Given the description of an element on the screen output the (x, y) to click on. 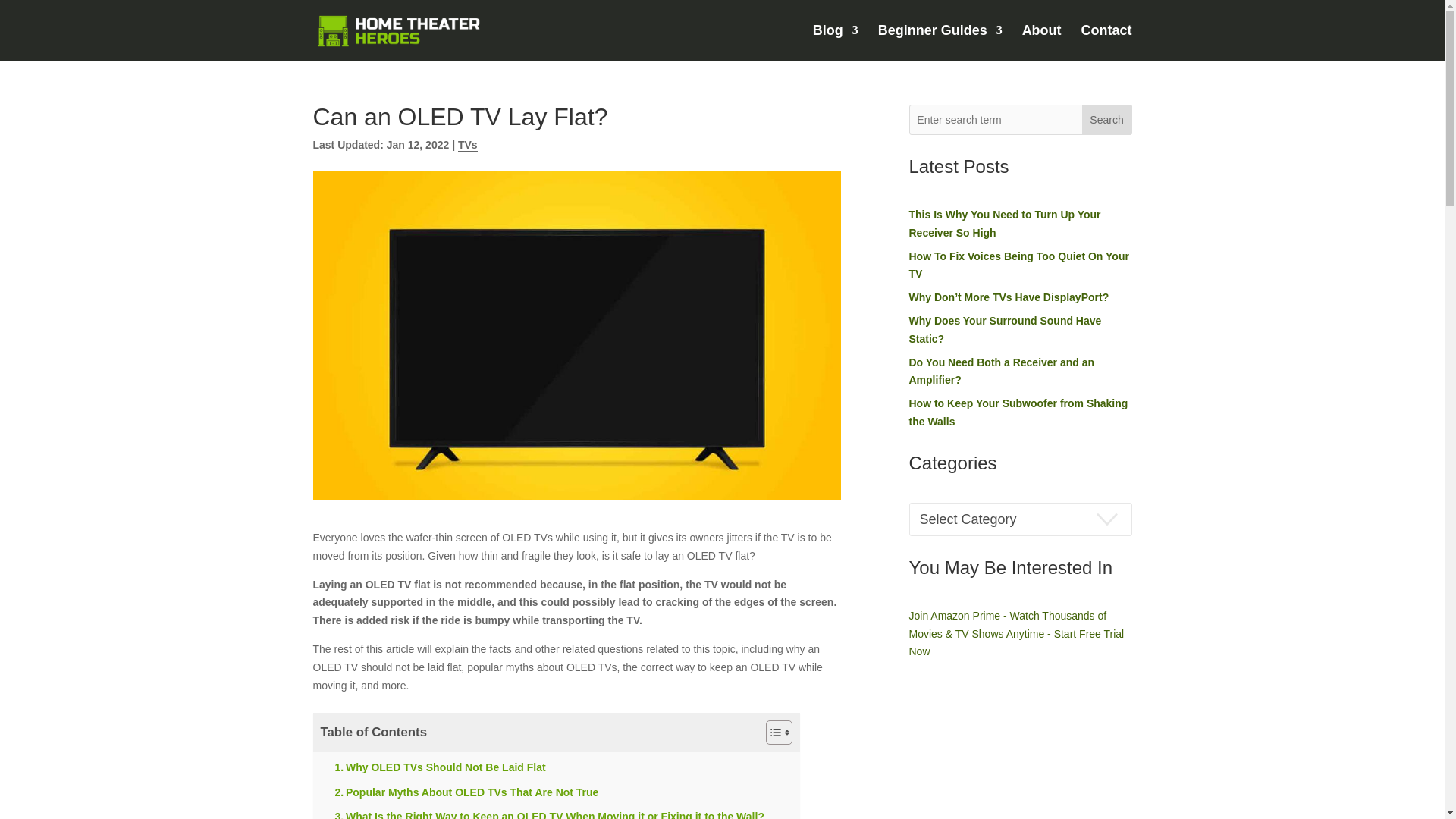
Popular Myths About OLED TVs That Are Not True (466, 791)
TVs (467, 145)
About (1041, 42)
Beginner Guides (940, 42)
Blog (835, 42)
Beginner Guides (940, 42)
About (1041, 42)
Why OLED TVs Should Not Be Laid Flat (440, 767)
Blog (835, 42)
Contact (1106, 42)
Contact (1106, 42)
